Given the description of an element on the screen output the (x, y) to click on. 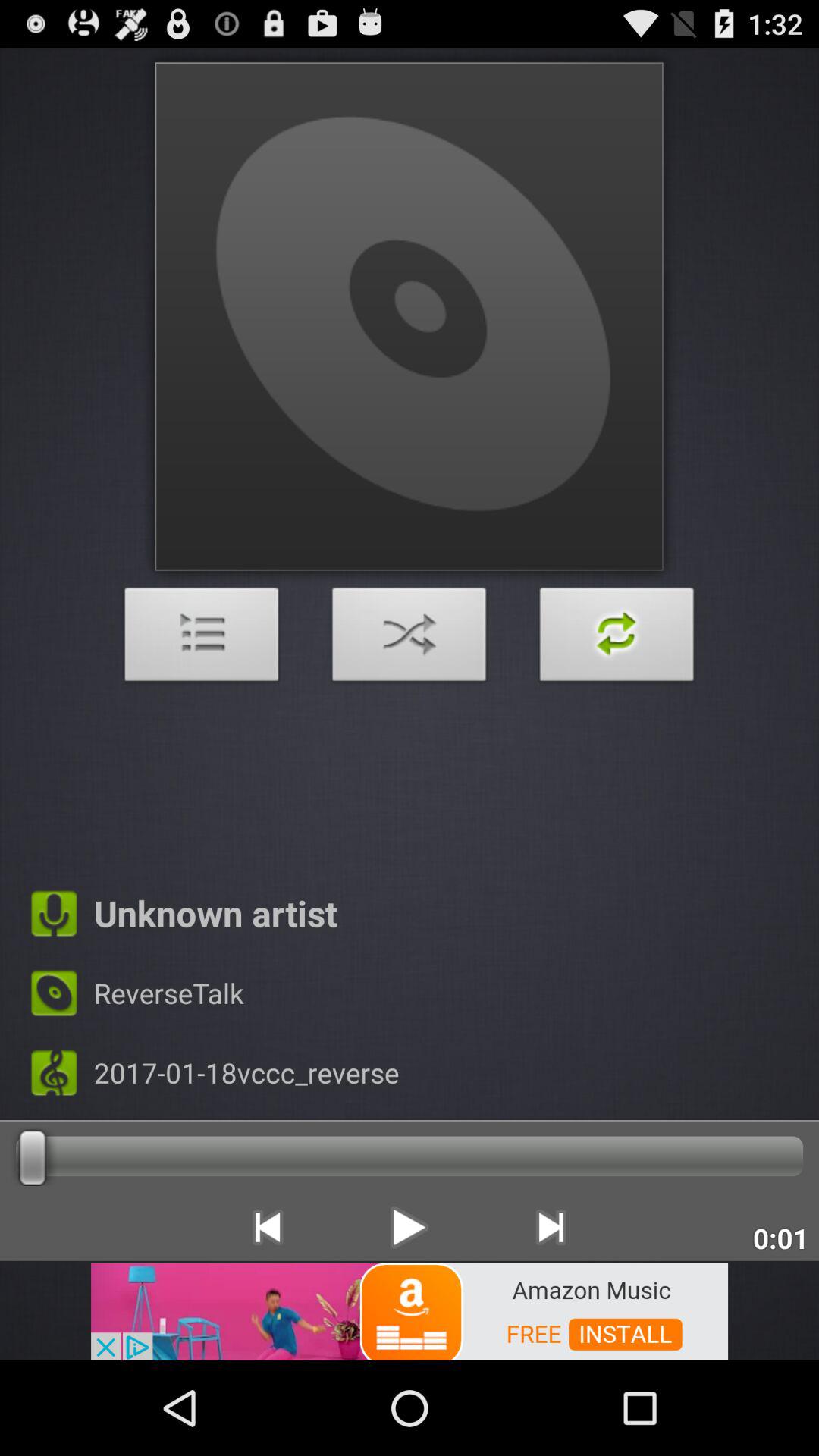
shuffle the songs (409, 638)
